Given the description of an element on the screen output the (x, y) to click on. 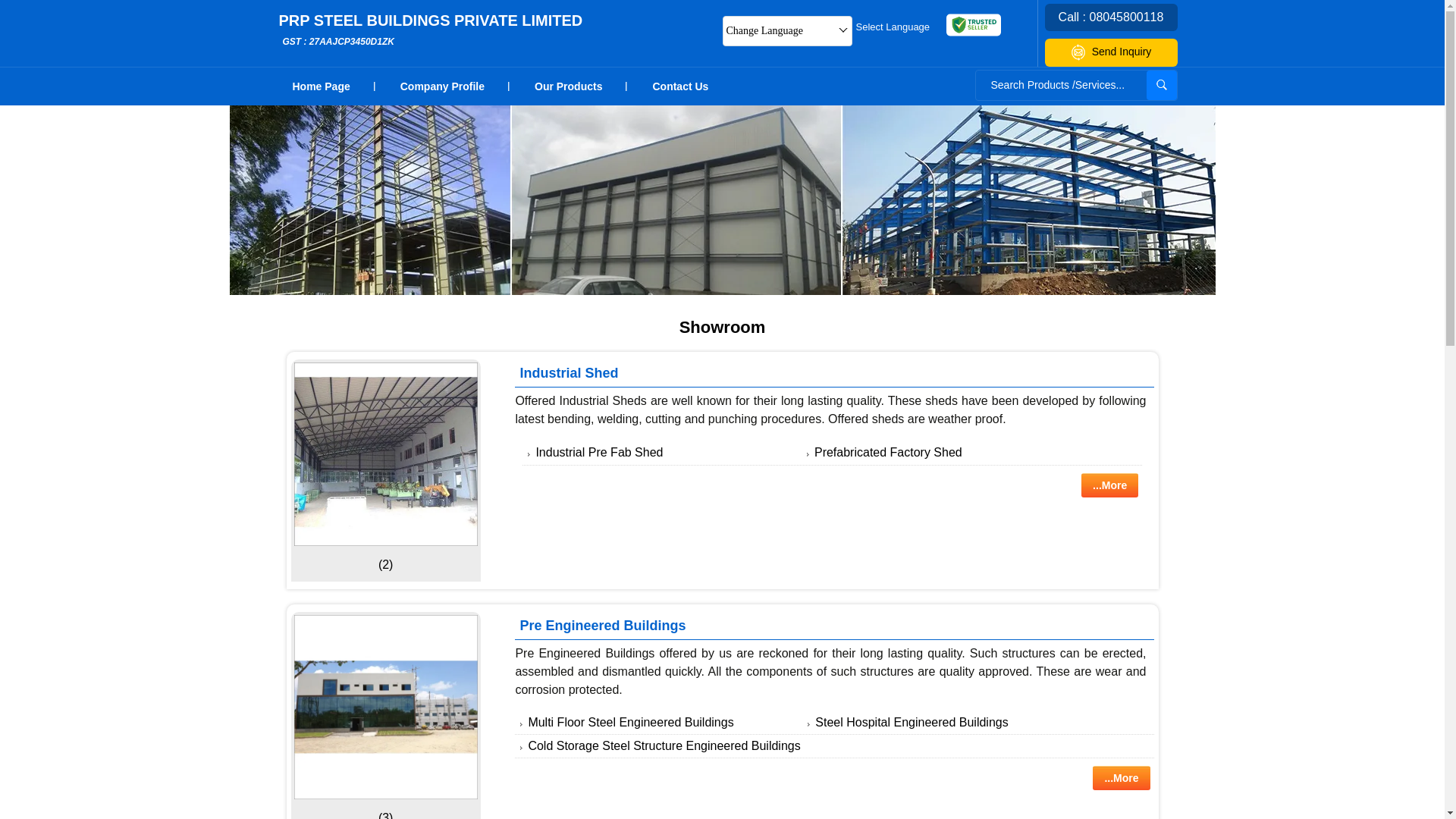
Industrial Pre Fab Shed (431, 29)
Select Language (598, 451)
Cold Storage Steel Structure Engineered Buildings (892, 26)
Multi Floor Steel Engineered Buildings (663, 745)
Industrial Shed (630, 721)
...More (385, 454)
submit (1121, 777)
Pre Engineered Buildings (1161, 84)
...More (602, 625)
Our Products (1109, 485)
Prefabricated Factory Shed (568, 86)
Industrial Shed (887, 451)
Contact Us (568, 372)
Pre Engineered Buildings (680, 86)
